Given the description of an element on the screen output the (x, y) to click on. 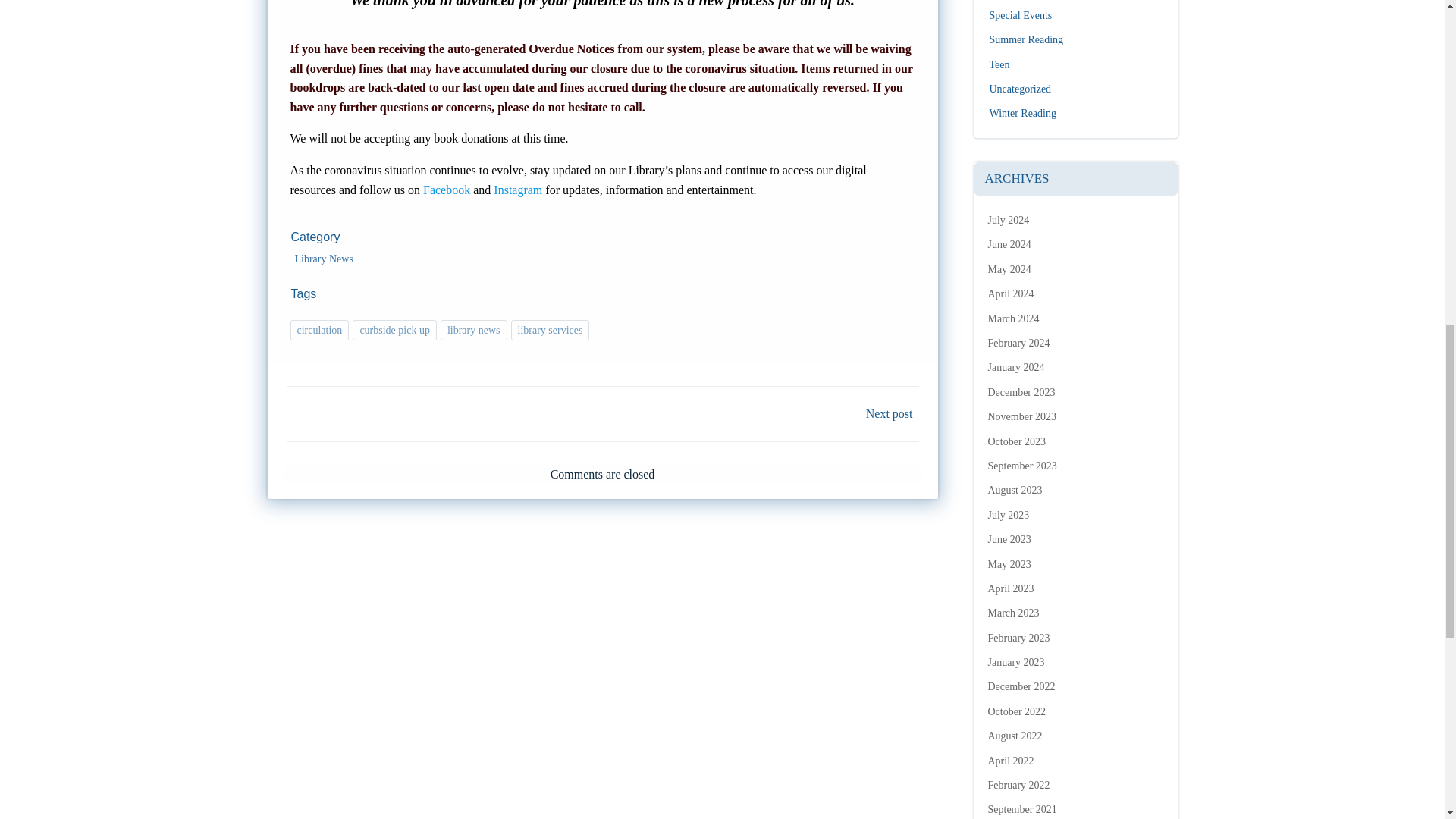
library services Tag (550, 330)
circulation Tag (319, 330)
curbside pick up Tag (394, 330)
library news Tag (473, 330)
